Given the description of an element on the screen output the (x, y) to click on. 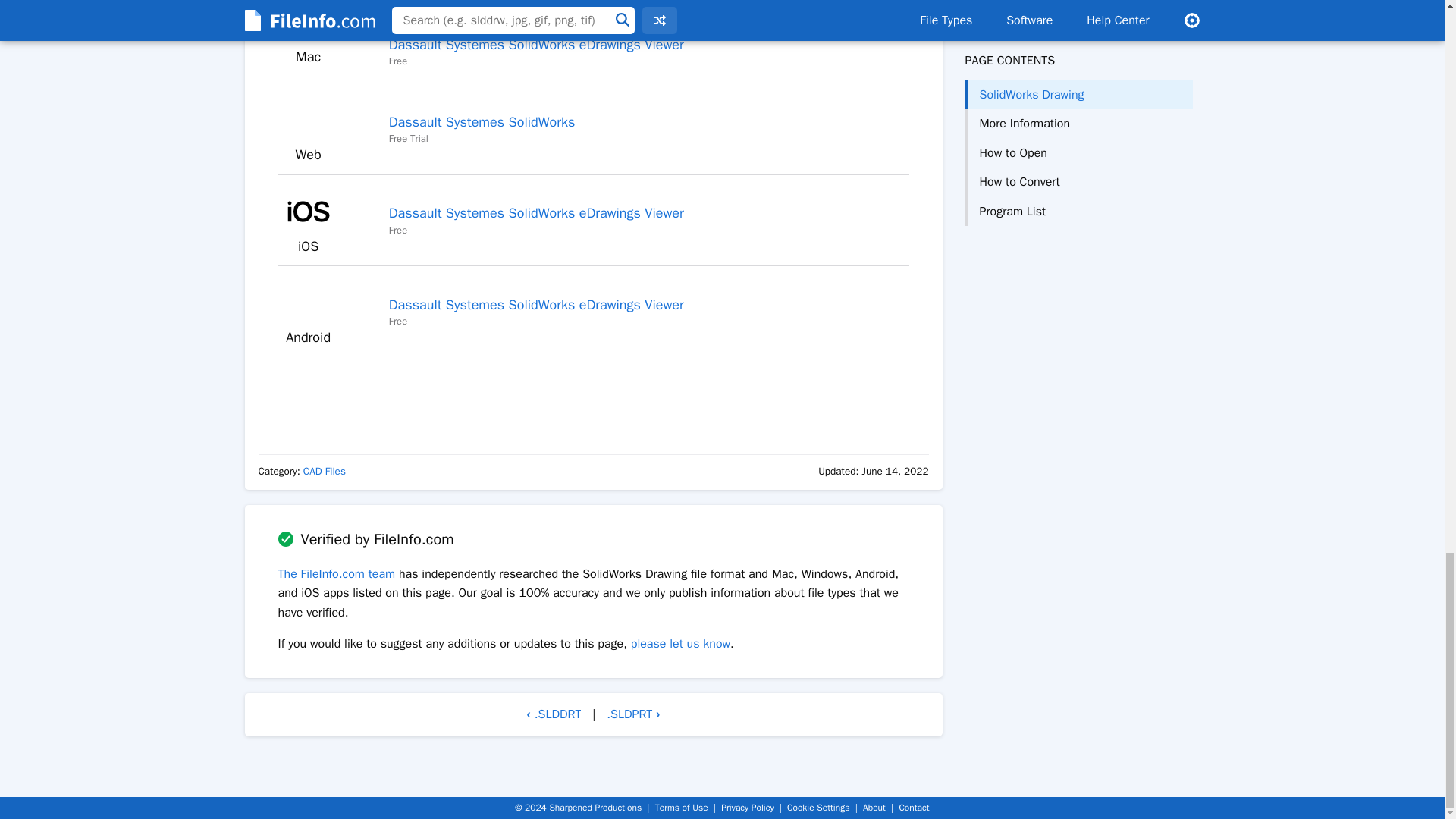
3rd party ad content (592, 395)
